Given the description of an element on the screen output the (x, y) to click on. 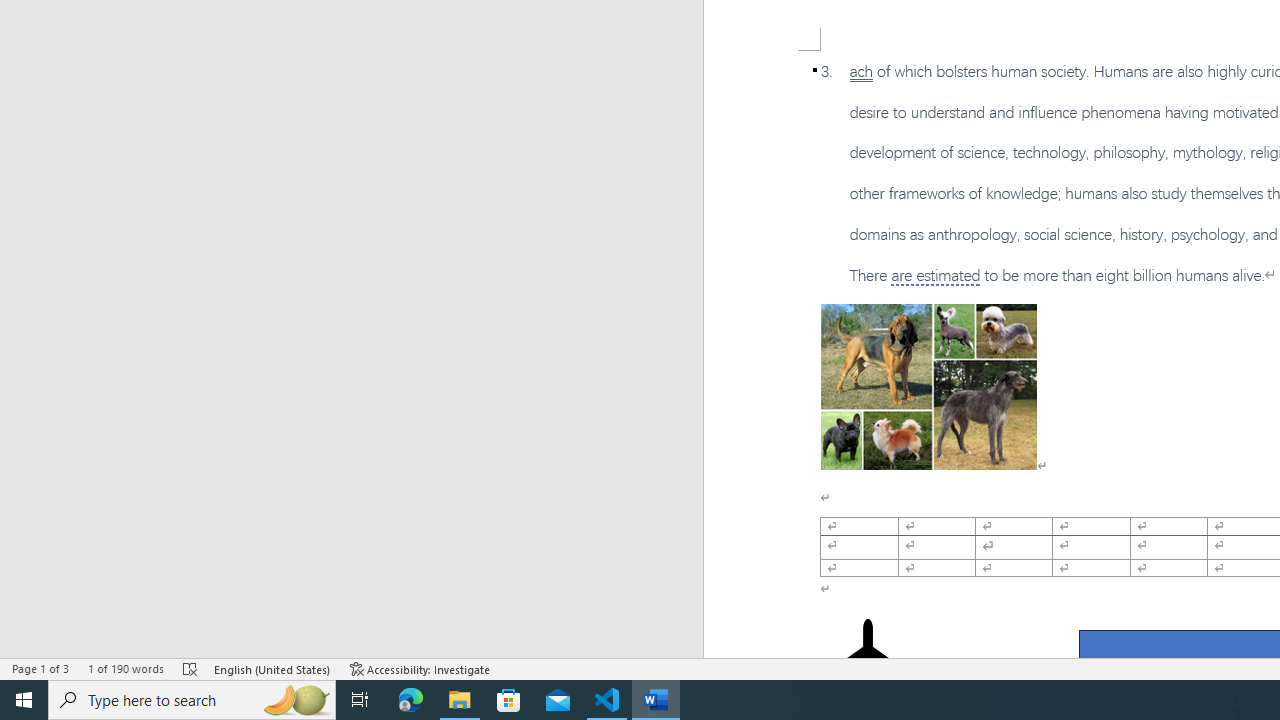
Page Number Page 1 of 3 (39, 668)
Airplane with solid fill (867, 657)
Spelling and Grammar Check Errors (191, 668)
Morphological variation in six dogs (928, 386)
Accessibility Checker Accessibility: Investigate (420, 668)
Language English (United States) (273, 668)
